Given the description of an element on the screen output the (x, y) to click on. 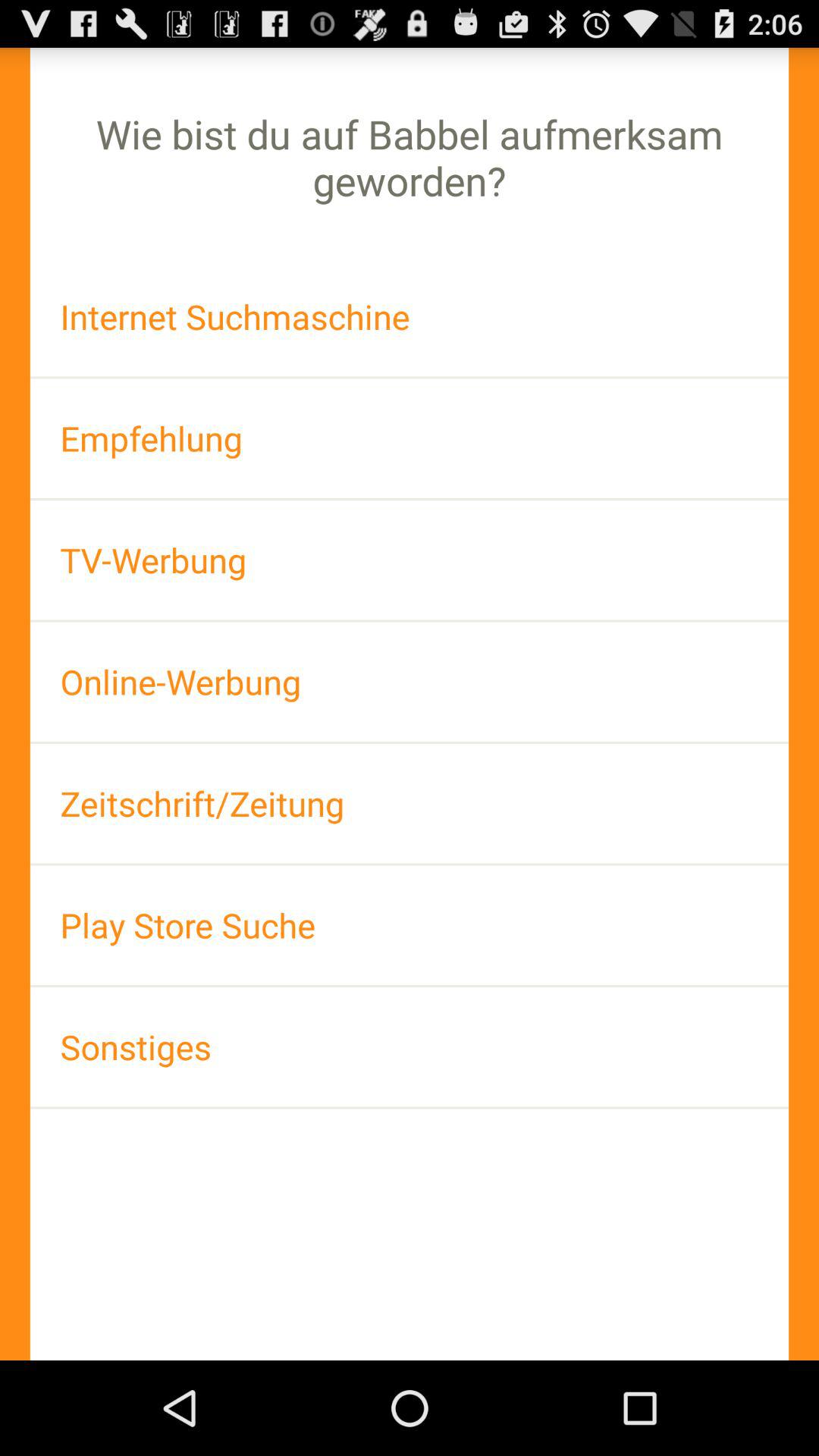
turn on zeitschrift/zeitung (409, 803)
